Given the description of an element on the screen output the (x, y) to click on. 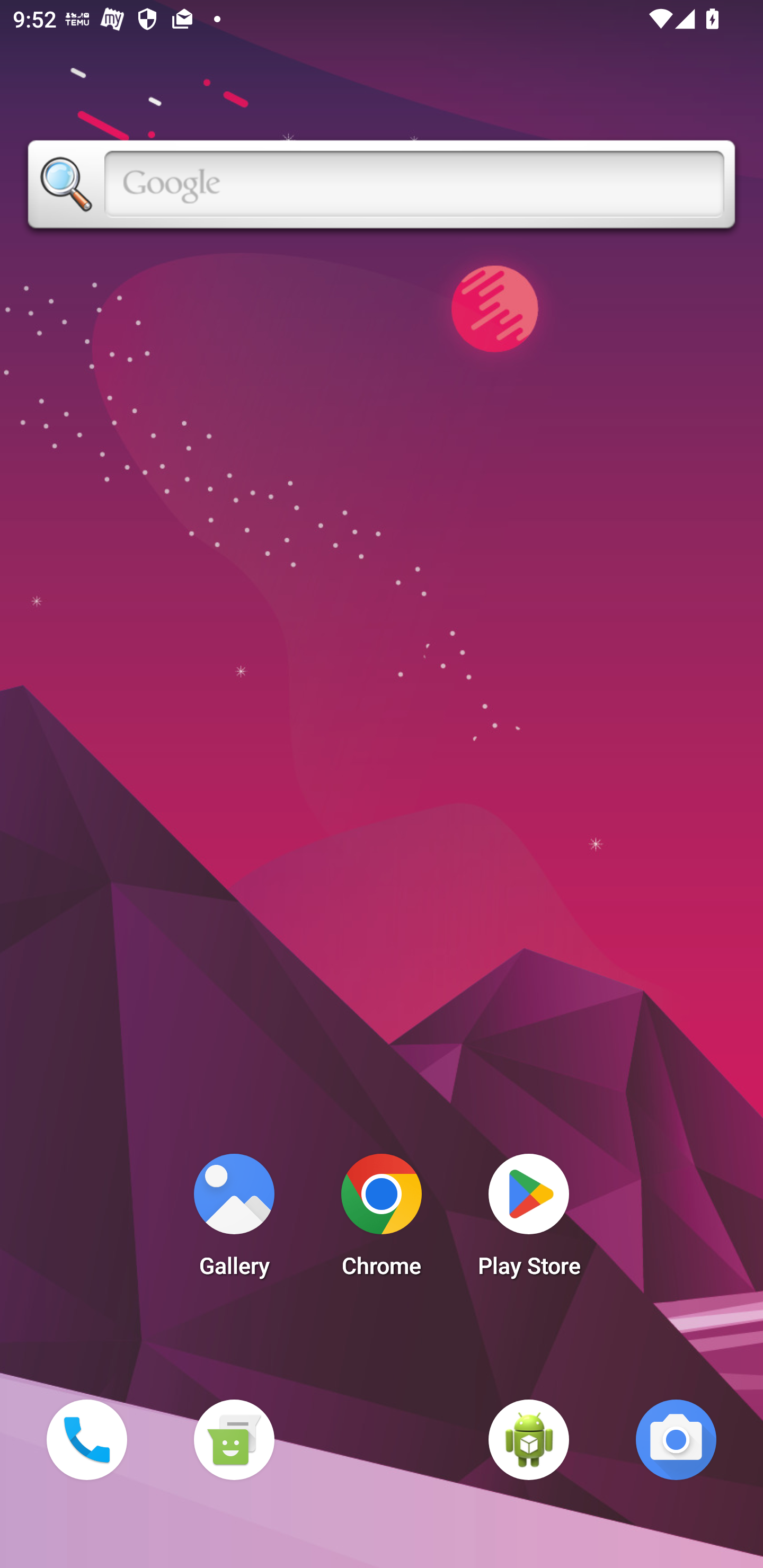
Gallery (233, 1220)
Chrome (381, 1220)
Play Store (528, 1220)
Phone (86, 1439)
Messaging (233, 1439)
WebView Browser Tester (528, 1439)
Camera (676, 1439)
